Given the description of an element on the screen output the (x, y) to click on. 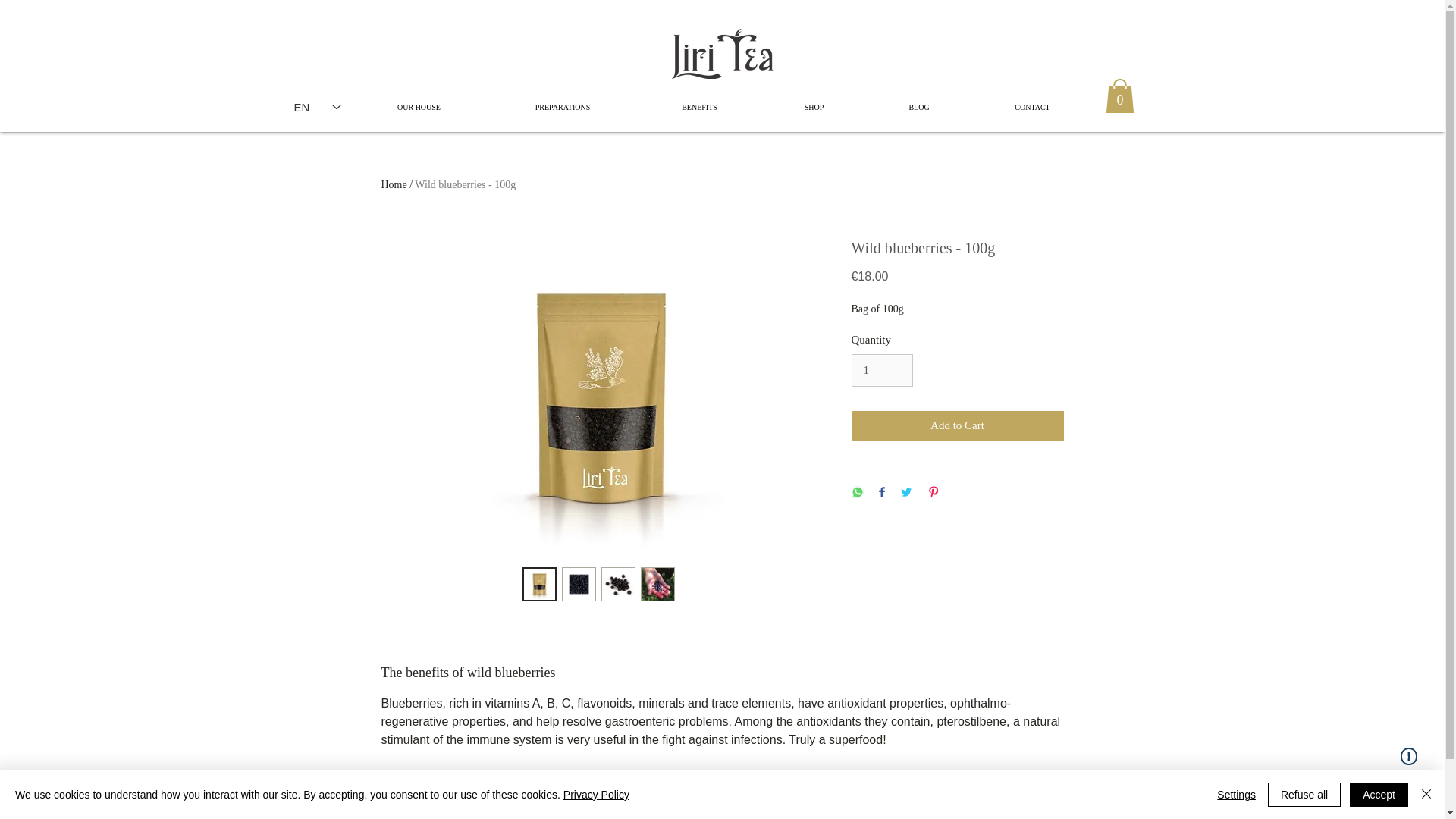
Wild blueberries - 100g (464, 184)
mountain tea (515, 775)
Home (393, 184)
Accept (1378, 794)
1 (881, 370)
BLOG (919, 107)
Add to Cart (956, 425)
BENEFITS (700, 107)
PREPARATIONS (561, 107)
CONTACT (1032, 107)
OUR HOUSE (418, 107)
Privacy Policy (595, 794)
Refuse all (1304, 794)
